Given the description of an element on the screen output the (x, y) to click on. 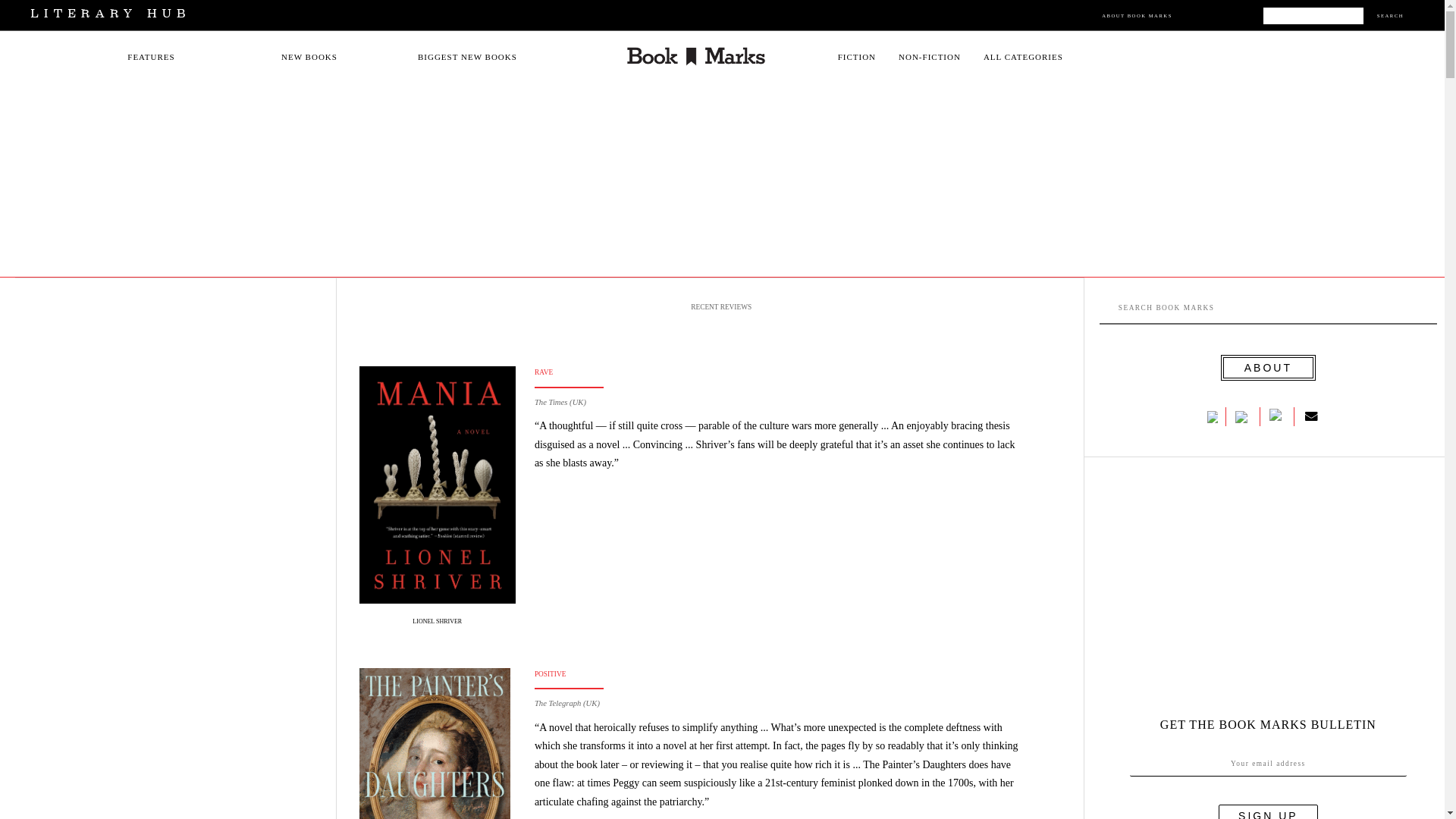
Sign up (1267, 811)
SEARCH (1390, 15)
NEW BOOKS (309, 56)
FEATURES (151, 56)
BIGGEST NEW BOOKS (466, 56)
ALL CATEGORIES (1023, 56)
NON-FICTION (929, 56)
